Given the description of an element on the screen output the (x, y) to click on. 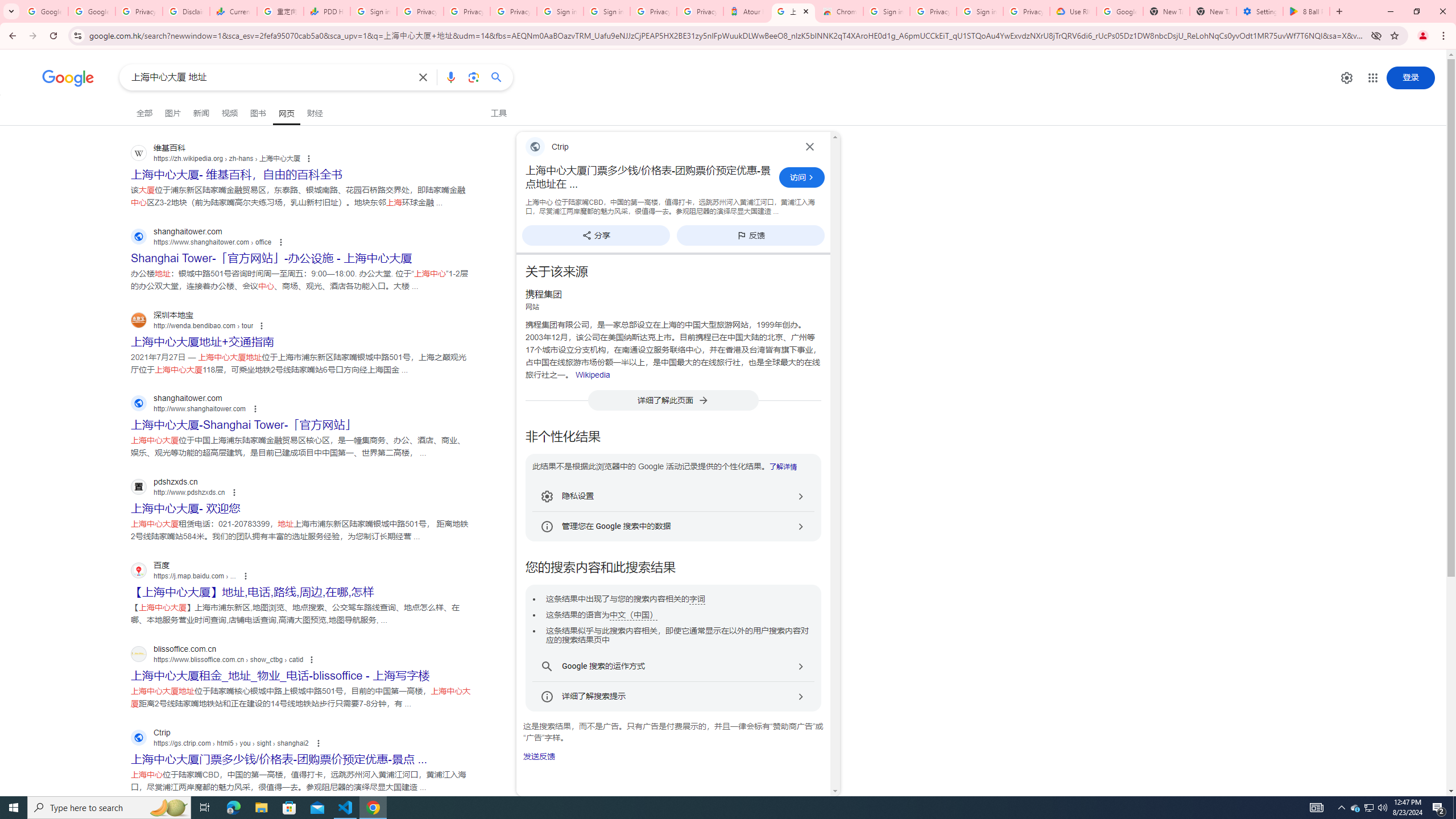
Sign in - Google Accounts (606, 11)
Sign in - Google Accounts (559, 11)
Privacy Checkup (466, 11)
